Given the description of an element on the screen output the (x, y) to click on. 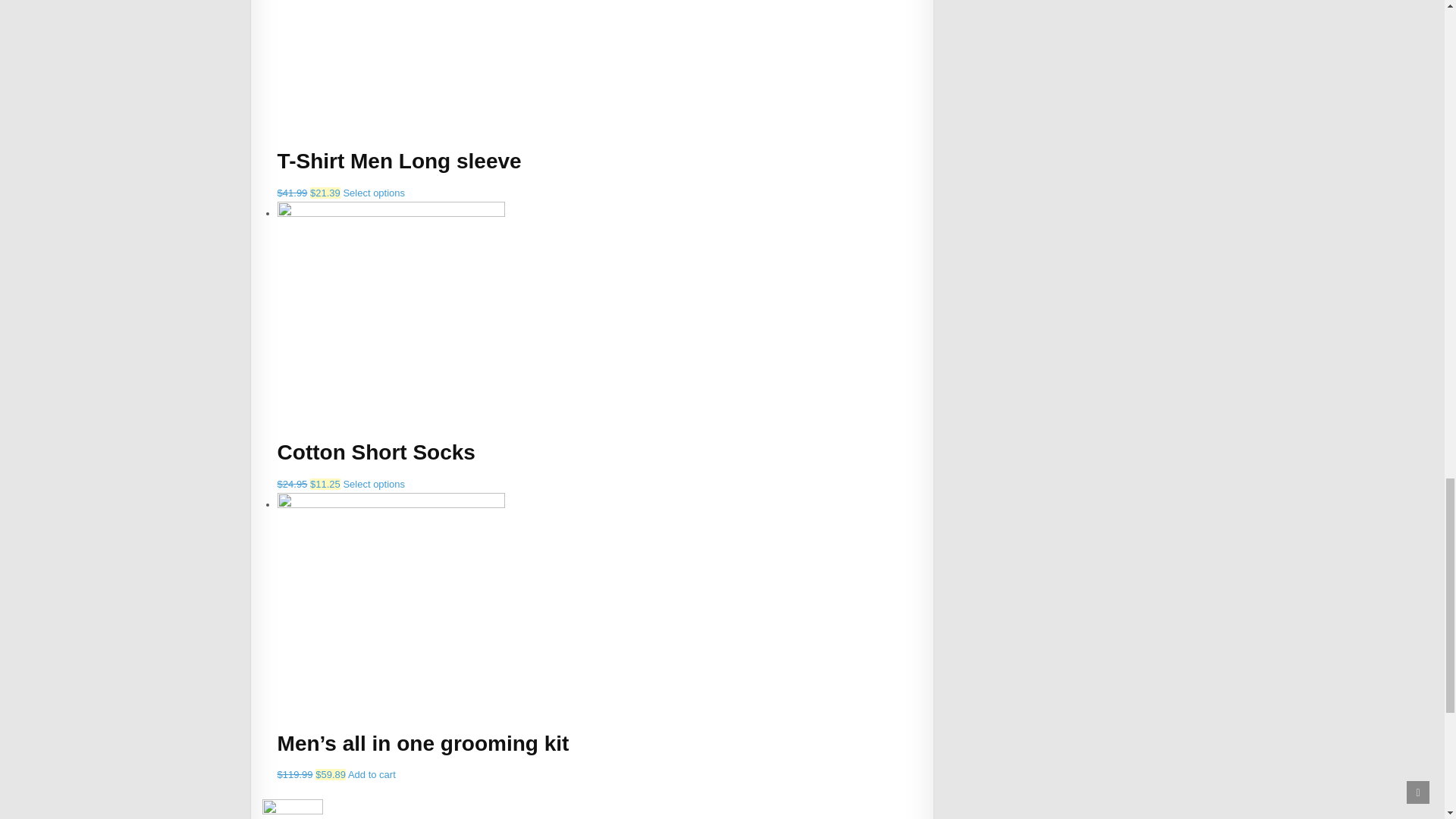
Add to cart (371, 774)
Select options (373, 483)
Select options (373, 193)
